Given the description of an element on the screen output the (x, y) to click on. 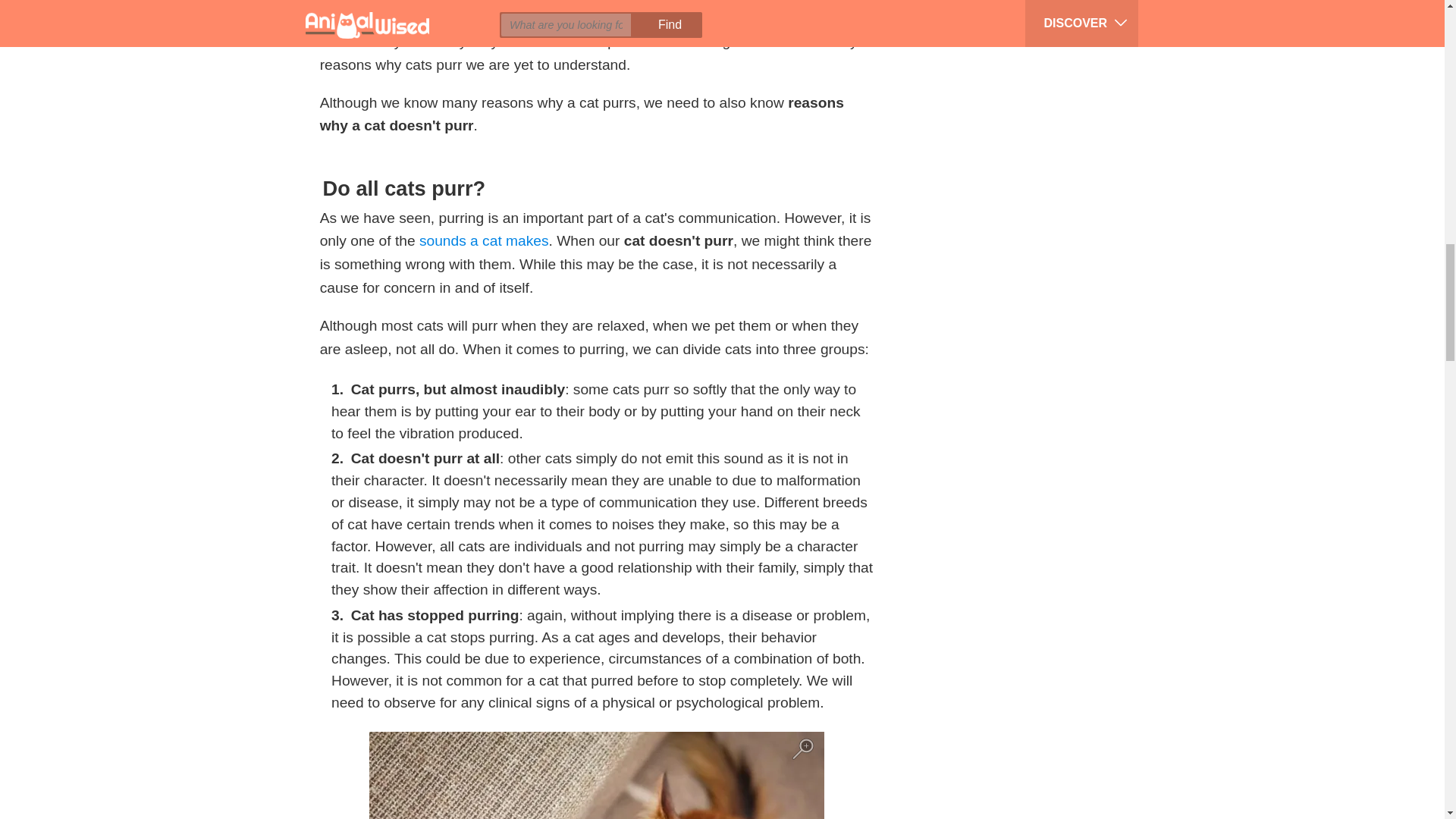
sounds a cat makes (483, 240)
